Given the description of an element on the screen output the (x, y) to click on. 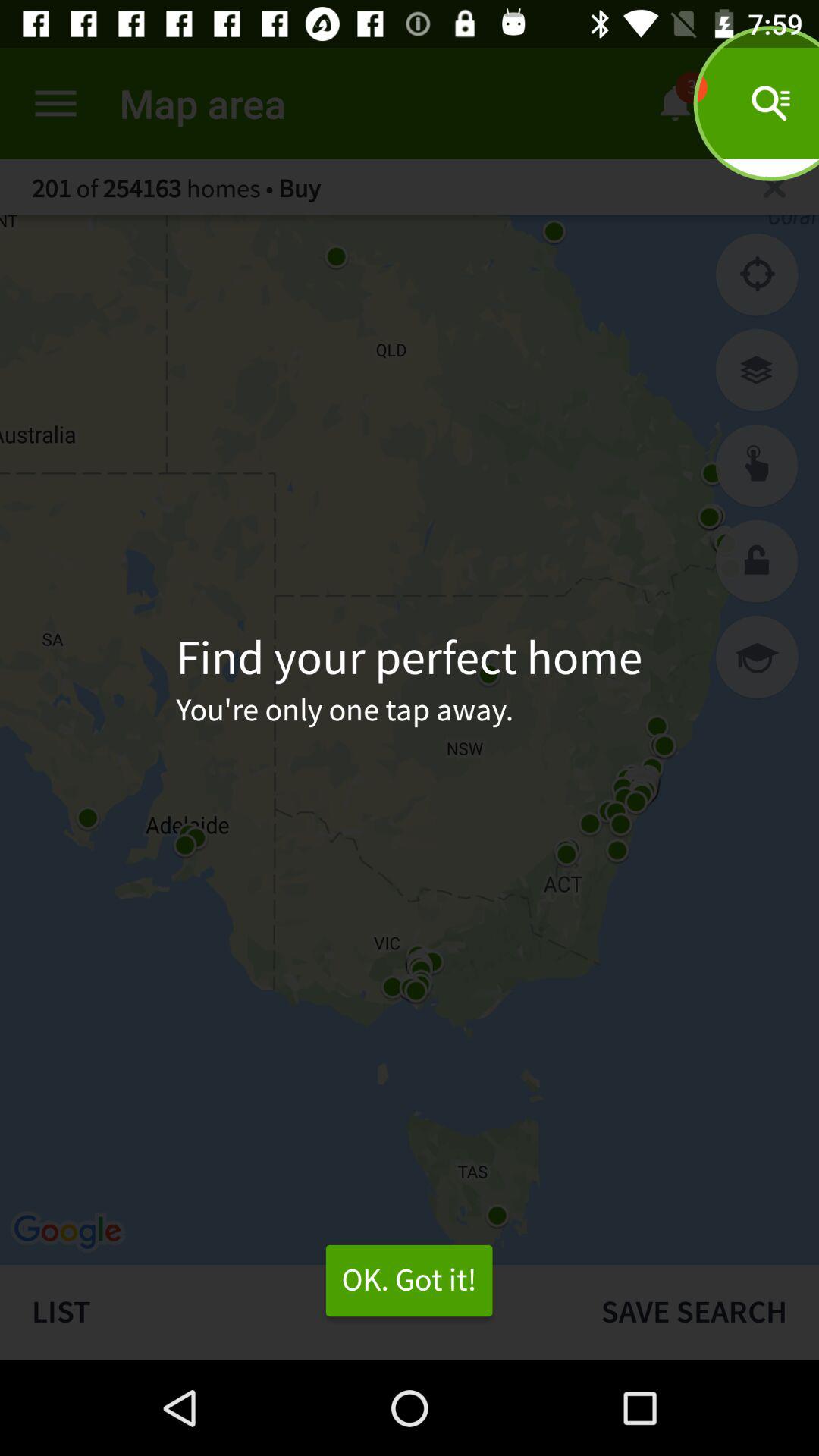
swipe until the ok. got it! icon (408, 1280)
